Given the description of an element on the screen output the (x, y) to click on. 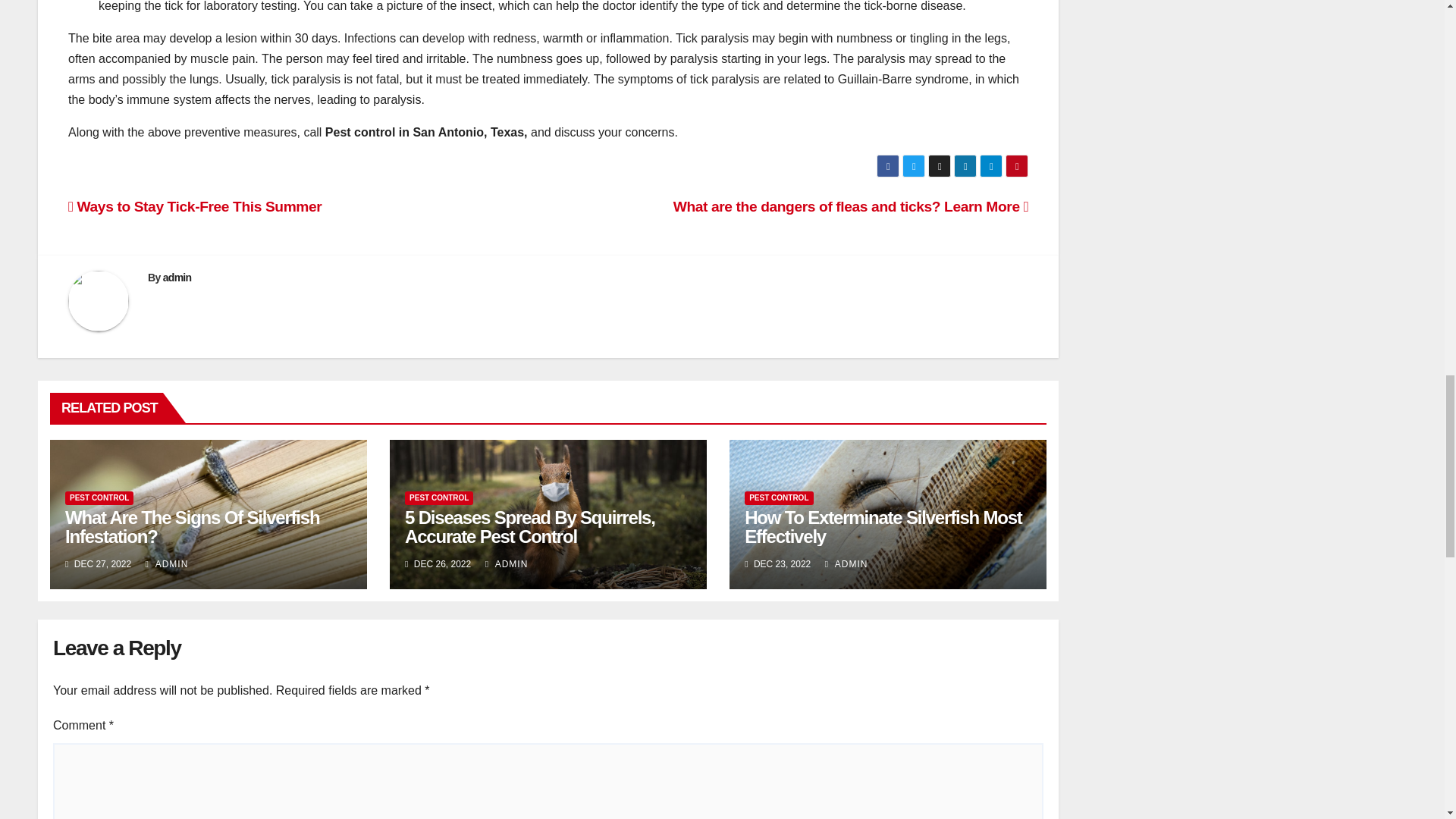
Ways to Stay Tick-Free This Summer (194, 206)
PEST CONTROL (778, 498)
ADMIN (167, 563)
5 Diseases Spread By Squirrels, Accurate Pest Control (529, 526)
admin (177, 277)
PEST CONTROL (438, 498)
What are the dangers of fleas and ticks? Learn More (850, 206)
ADMIN (846, 563)
PEST CONTROL (99, 498)
How To Exterminate Silverfish Most Effectively (883, 526)
Permalink to: What Are The Signs Of Silverfish Infestation? (191, 526)
Permalink to: How To Exterminate Silverfish Most Effectively (883, 526)
ADMIN (506, 563)
What Are The Signs Of Silverfish Infestation? (191, 526)
